Given the description of an element on the screen output the (x, y) to click on. 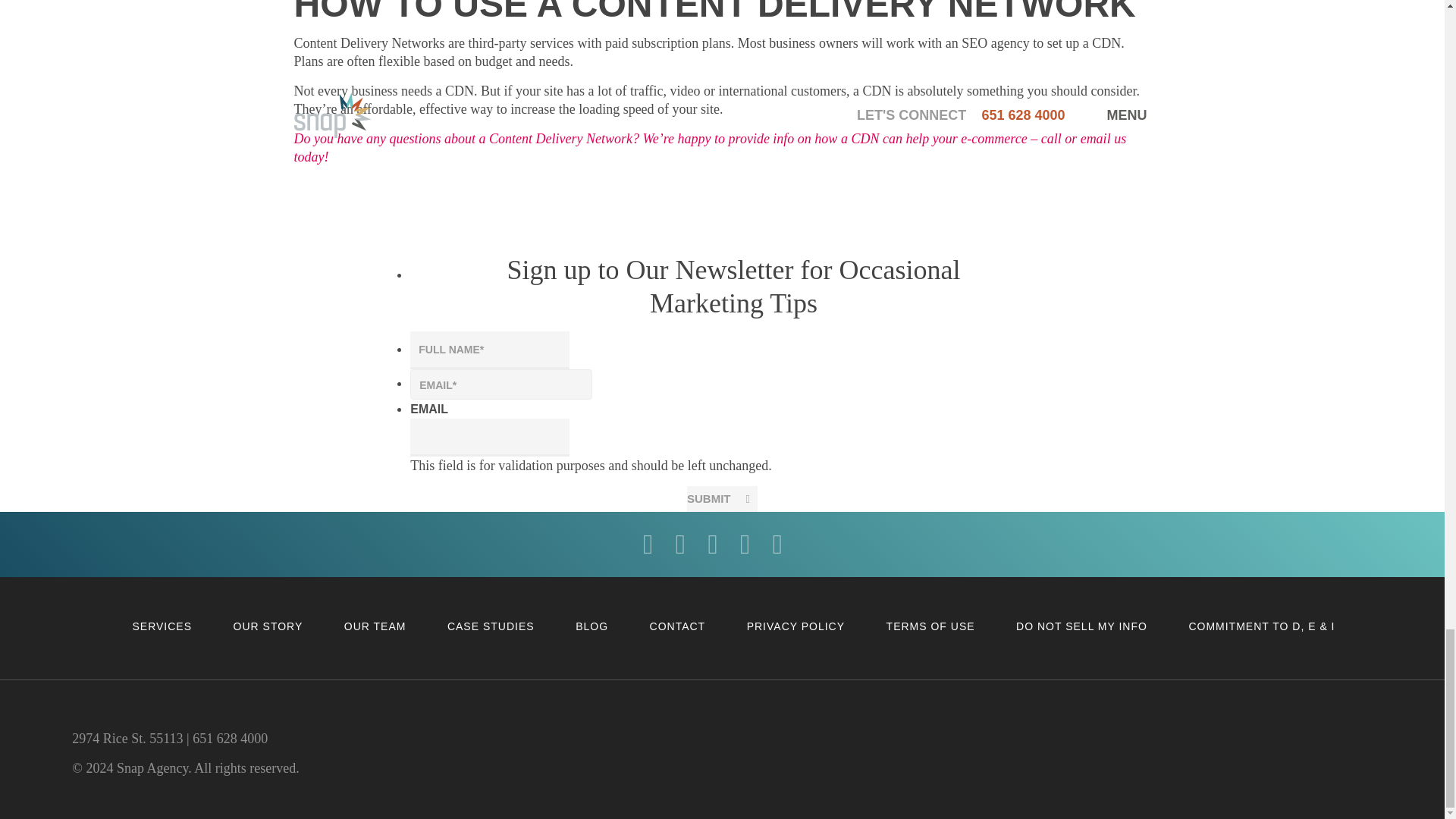
CONTACT (677, 626)
TERMS OF USE (930, 626)
PRIVACY POLICY (795, 626)
OUR STORY (267, 626)
OUR TEAM (374, 626)
DO NOT SELL MY INFO (1081, 626)
BLOG (591, 626)
CASE STUDIES (490, 626)
SERVICES (162, 626)
SUBMIT (722, 498)
